Given the description of an element on the screen output the (x, y) to click on. 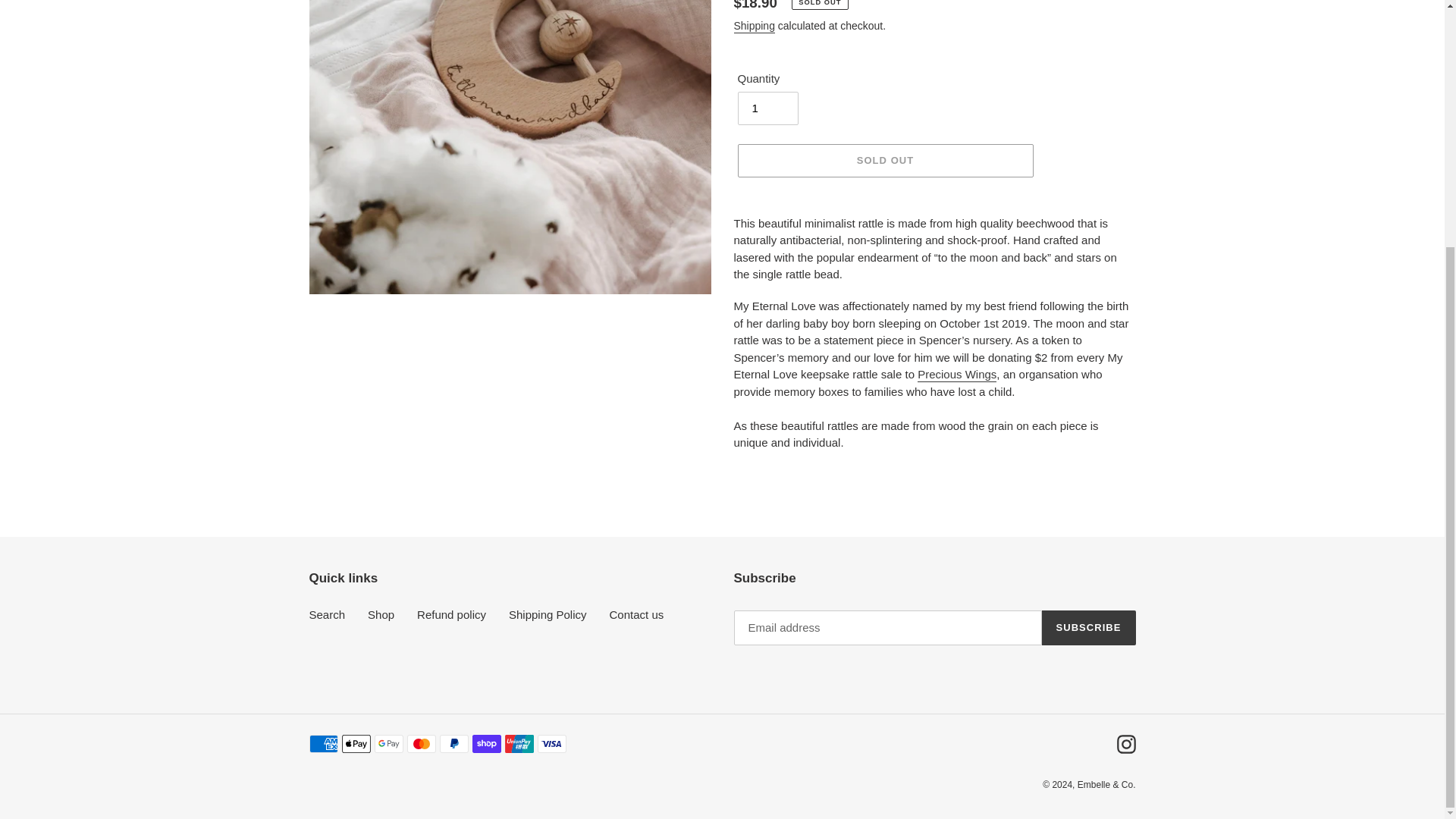
Refund policy (451, 614)
Instagram (1125, 743)
Shipping Policy (547, 614)
Shipping (753, 26)
Search (327, 614)
Shop (381, 614)
Contact us (636, 614)
SOLD OUT (884, 160)
1 (766, 108)
SUBSCRIBE (1088, 627)
